Given the description of an element on the screen output the (x, y) to click on. 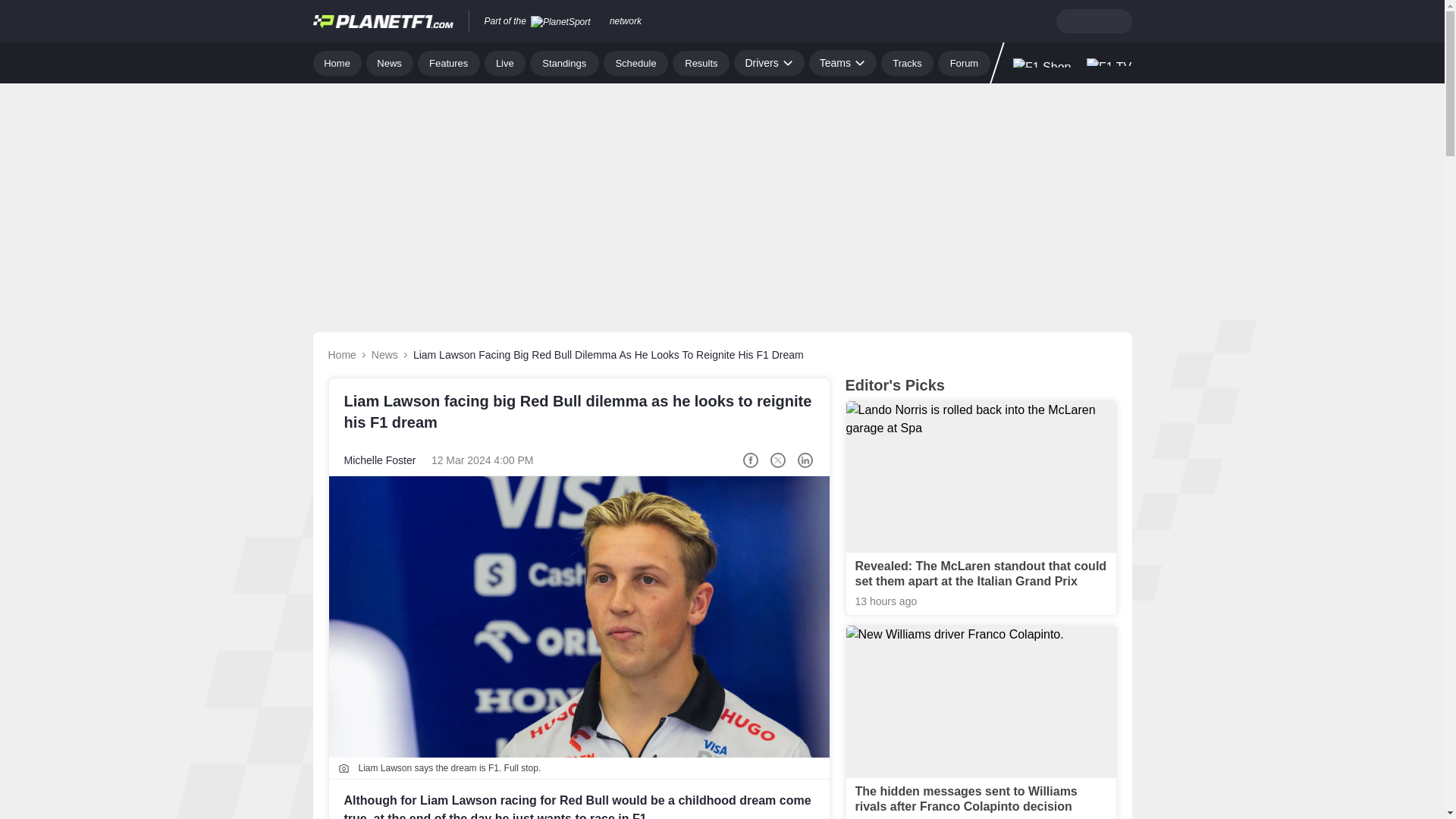
Features (448, 62)
Drivers (768, 62)
Results (700, 62)
Standings (563, 62)
Live (504, 62)
Teams (842, 62)
Home (337, 62)
Schedule (636, 62)
News (389, 62)
